Given the description of an element on the screen output the (x, y) to click on. 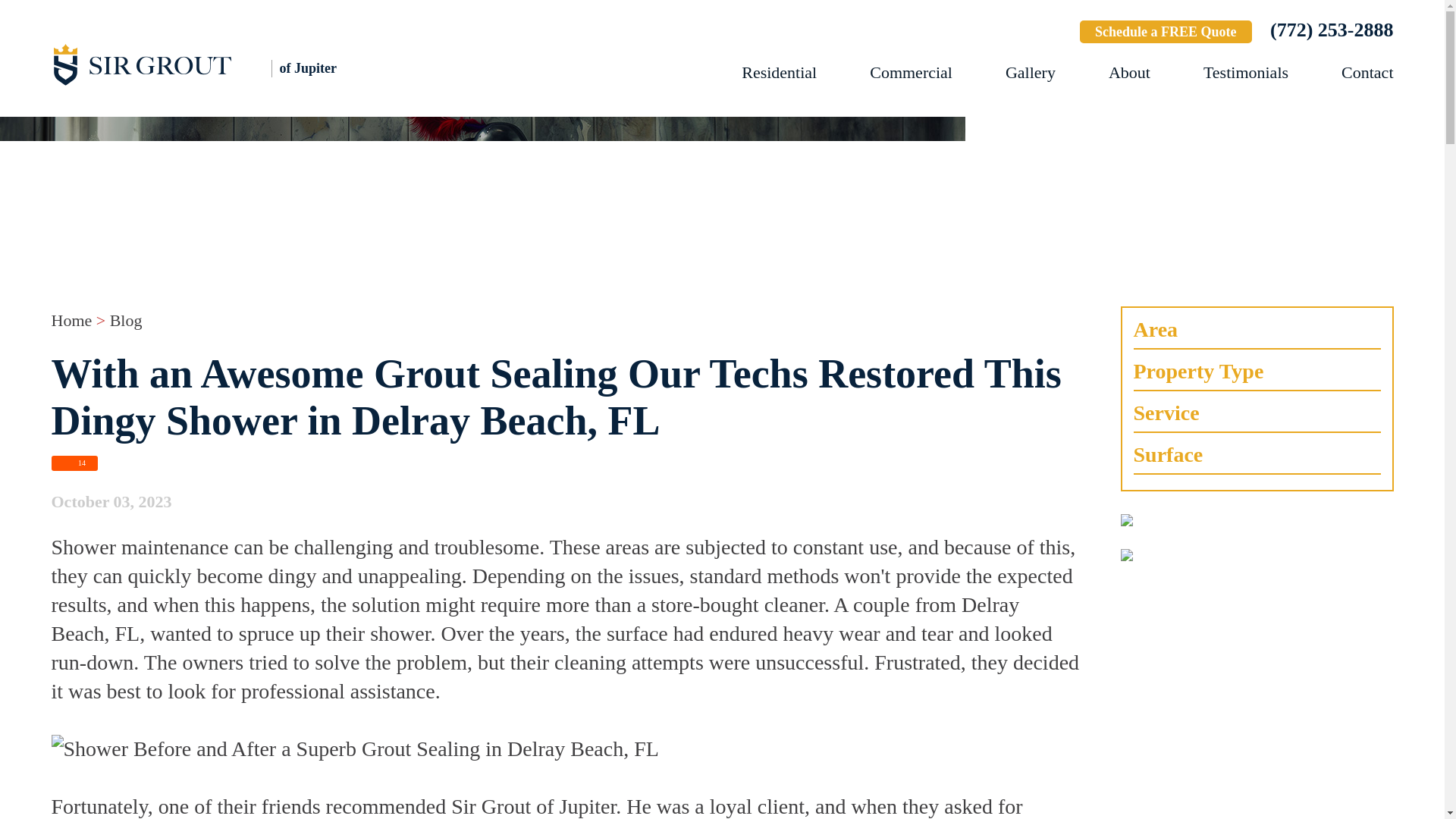
of Jupiter (217, 64)
Commercial (910, 72)
Residential Services (778, 72)
About (1129, 72)
Write a Review (1013, 32)
Schedule a FREE Quote (1166, 31)
Gallery (1030, 72)
Sir Grout of Jupiter (217, 64)
Schedule a FREE Quote (1166, 31)
Residential (778, 72)
Write a Review (1013, 32)
Call Sir Grout of Jupiter (1331, 29)
